Given the description of an element on the screen output the (x, y) to click on. 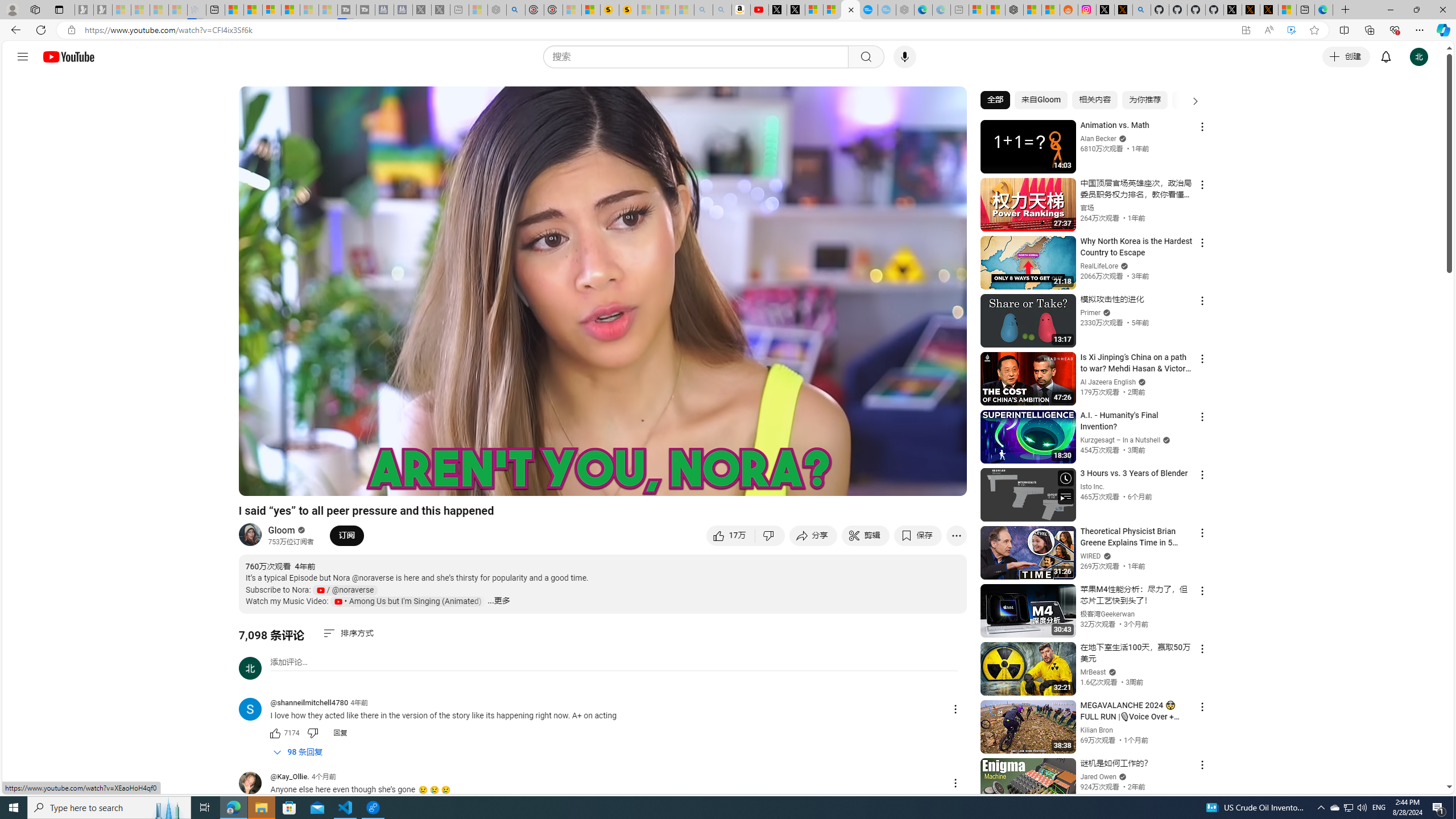
Welcome to Microsoft Edge (1324, 9)
Class: ytp-subtitles-button-icon (837, 482)
Newsletter Sign Up - Sleeping (102, 9)
Log in to X / X (1105, 9)
Day 1: Arriving in Yemen (surreal to be here) - YouTube (759, 9)
